Given the description of an element on the screen output the (x, y) to click on. 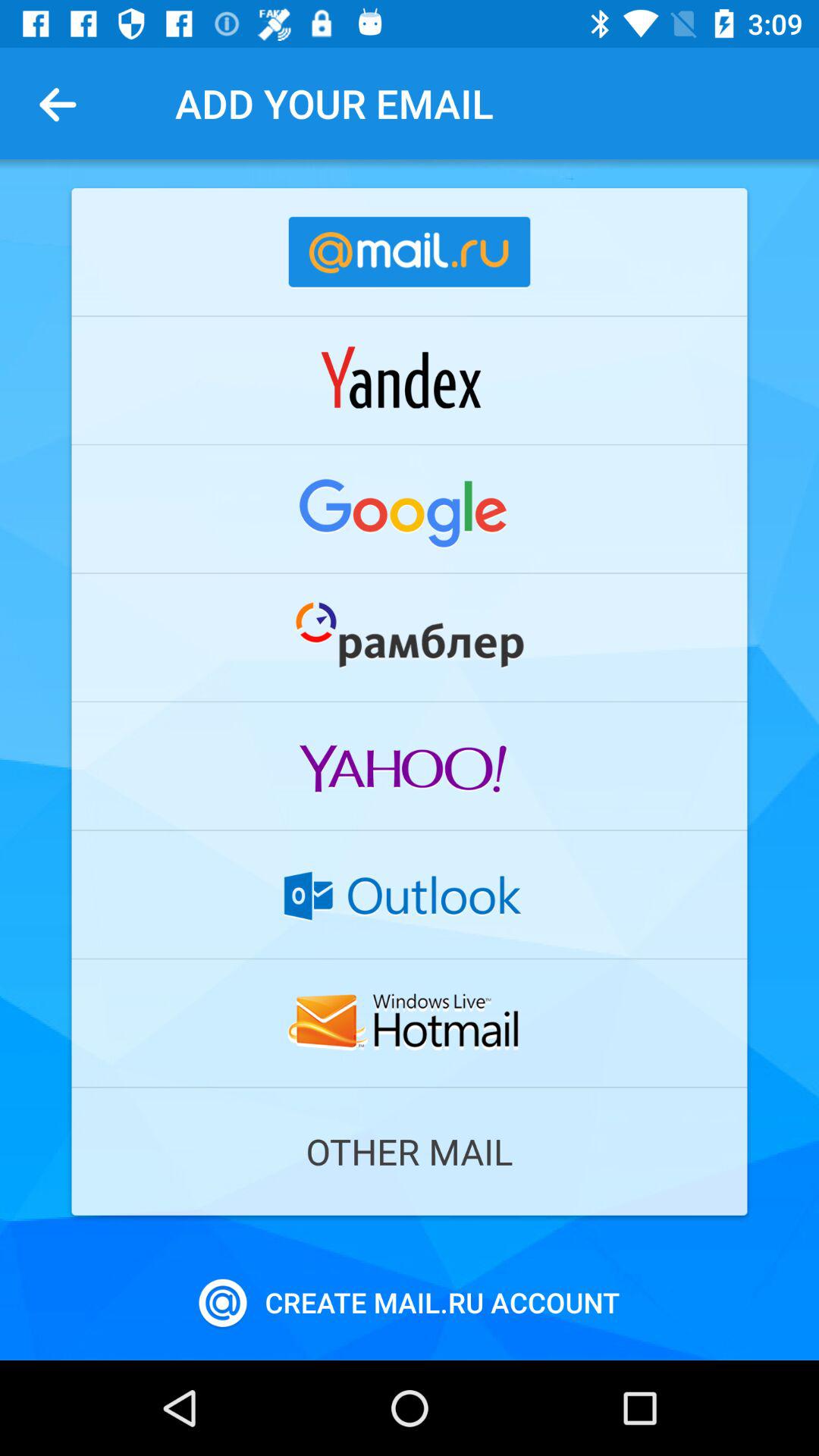
open gmail log in (409, 508)
